Given the description of an element on the screen output the (x, y) to click on. 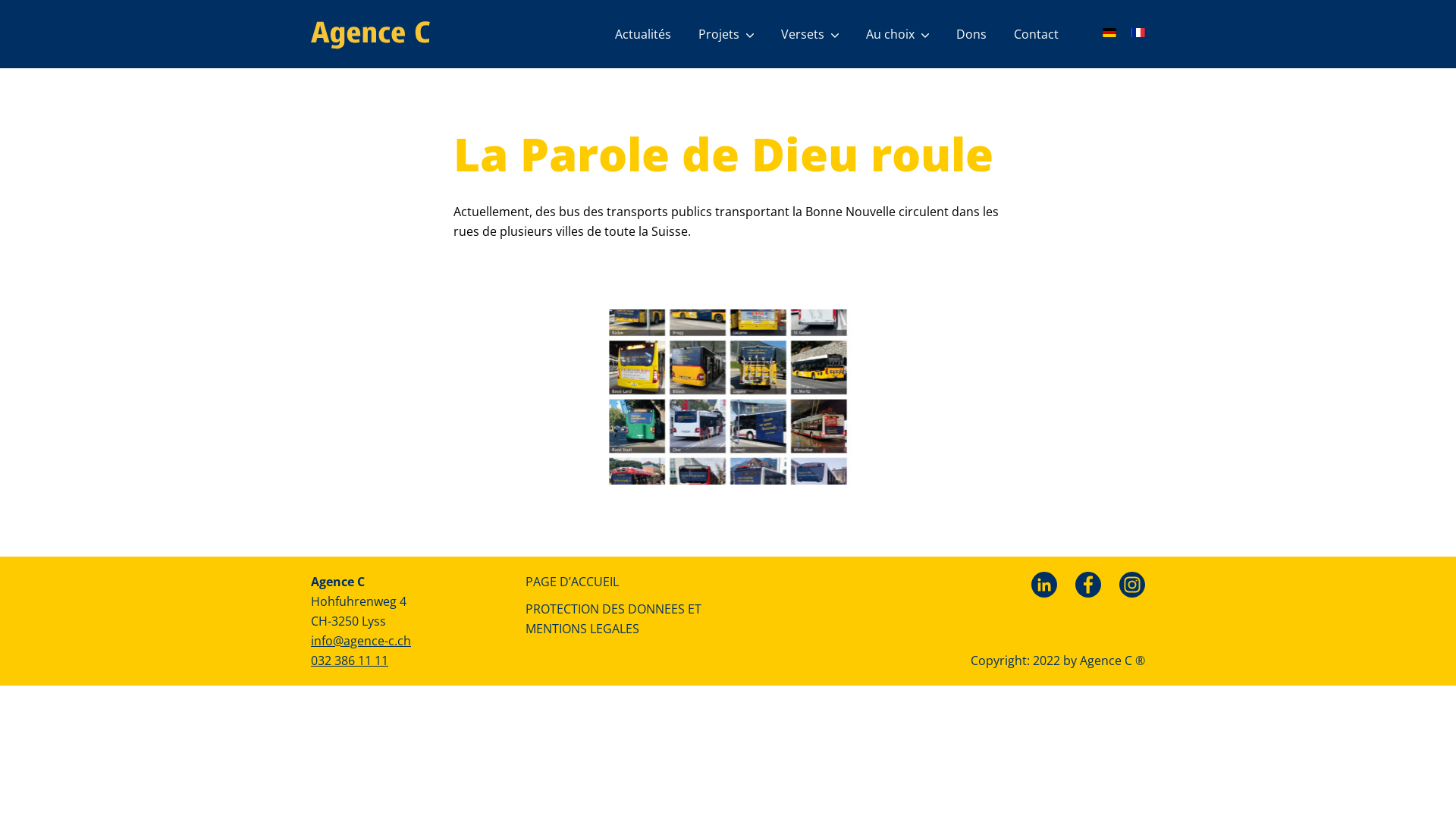
Au choix Element type: text (897, 33)
info@agence-c.ch Element type: text (360, 640)
Contact Element type: text (1036, 33)
Projets Element type: text (725, 33)
Buswerbung-Plakat-A2_4WEB Element type: hover (727, 396)
PROTECTION DES DONNEES ET MENTIONS LEGALES Element type: text (620, 618)
Dons Element type: text (971, 33)
032 386 11 11 Element type: text (349, 660)
Versets Element type: text (809, 33)
